Given the description of an element on the screen output the (x, y) to click on. 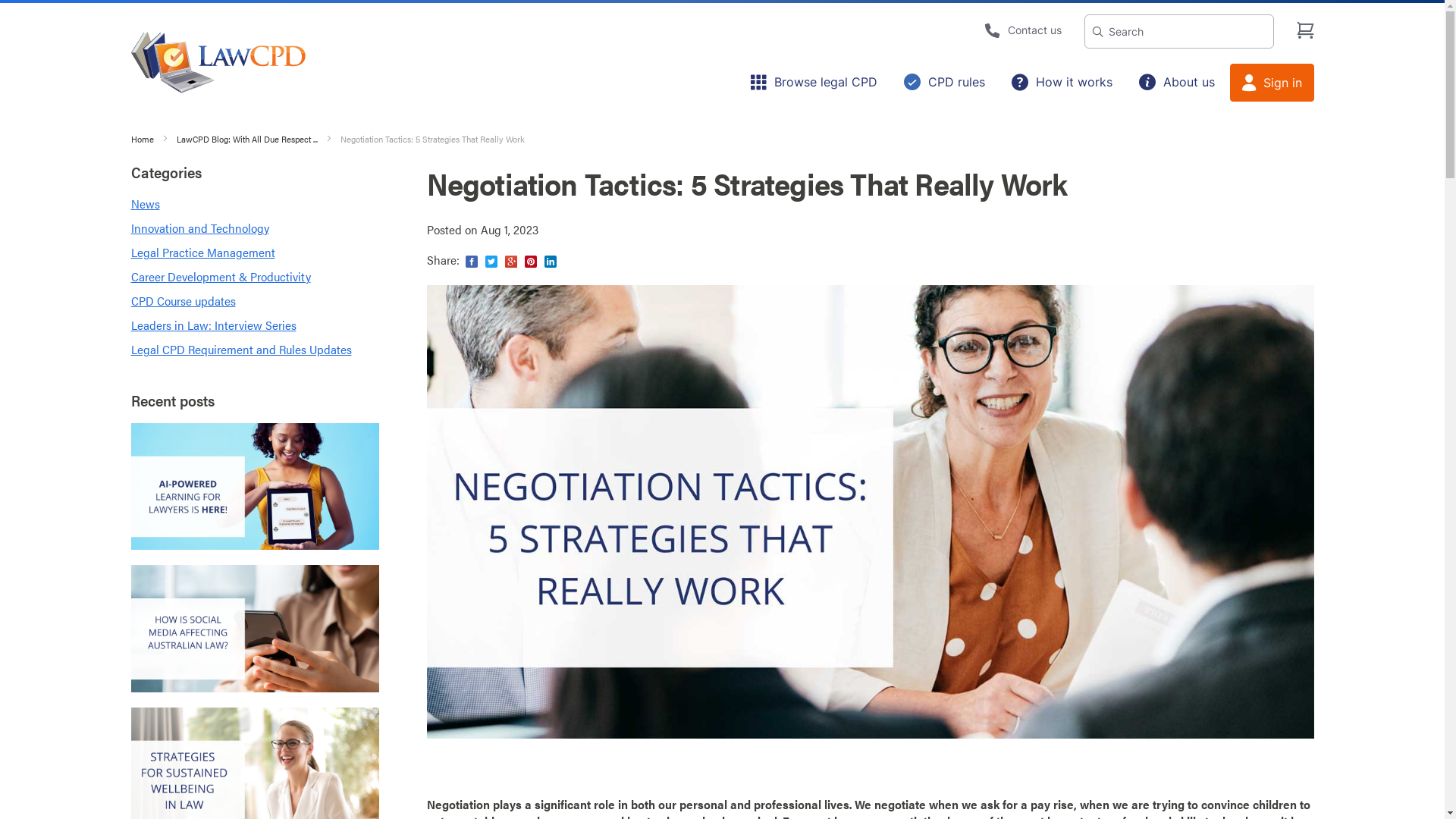
Search Element type: text (1097, 31)
Contact us Element type: text (1022, 29)
Innovation and Technology Element type: text (199, 227)
How it works Element type: text (1061, 81)
Legal CPD Requirement and Rules Updates Element type: text (240, 348)
LawCPD.com.au Logo Element type: hover (217, 62)
CPD Course updates Element type: text (182, 300)
How is Social Media Affecting Australian Law? Element type: hover (254, 627)
LawCPD Blog: With All Due Respect ... Element type: text (247, 138)
Legal Practice Management Element type: text (202, 251)
Career Development & Productivity Element type: text (220, 276)
Sign in Element type: text (1272, 82)
CPD rules Element type: text (943, 81)
Learn these five negotiation tactics that really work  Element type: hover (869, 511)
News Element type: text (144, 203)
About us Element type: text (1175, 81)
Home Element type: text (142, 138)
Leaders in Law: Interview Series Element type: text (212, 324)
My Cart Element type: text (1305, 30)
Browse legal CPD Element type: text (813, 81)
